Given the description of an element on the screen output the (x, y) to click on. 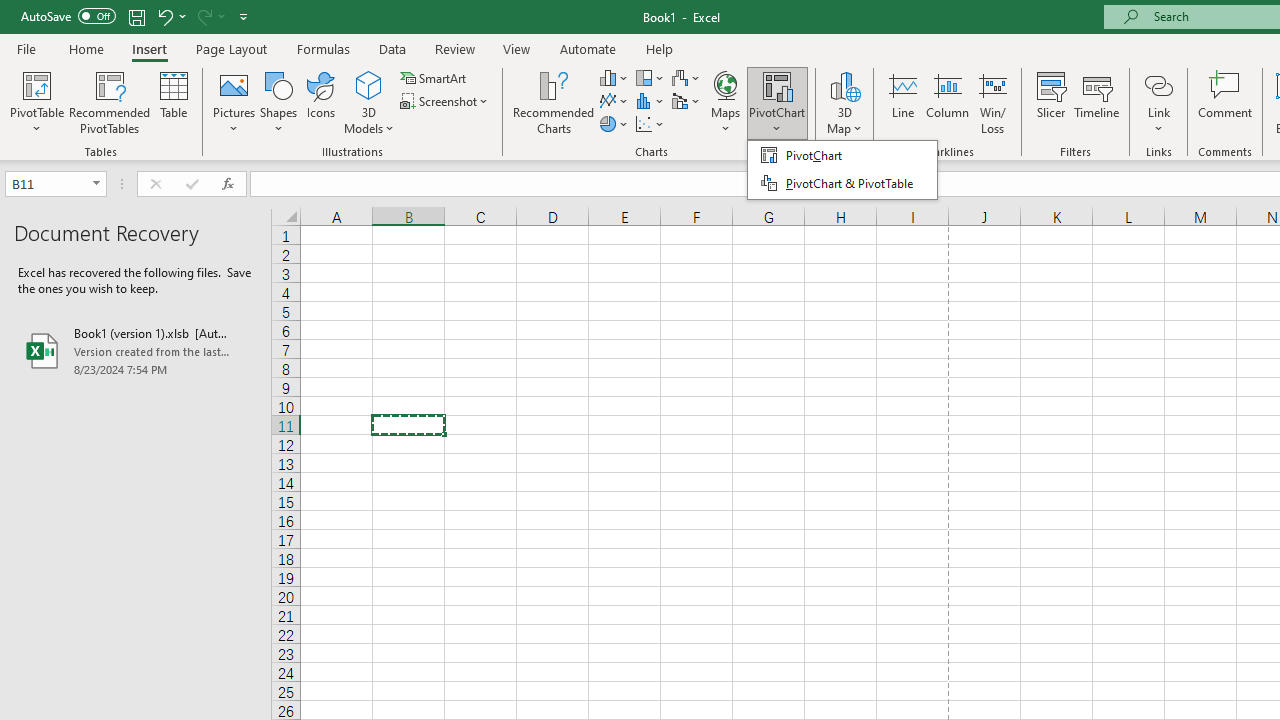
Column (947, 102)
Home (86, 48)
PivotChart (777, 102)
Pictures (234, 102)
Insert Pie or Doughnut Chart (614, 124)
Maps (726, 102)
Slicer... (1051, 102)
Icons (320, 102)
Insert Waterfall, Funnel, Stock, Surface, or Radar Chart (687, 78)
Help (660, 48)
Review (454, 48)
File Tab (26, 48)
Link (1158, 102)
